Given the description of an element on the screen output the (x, y) to click on. 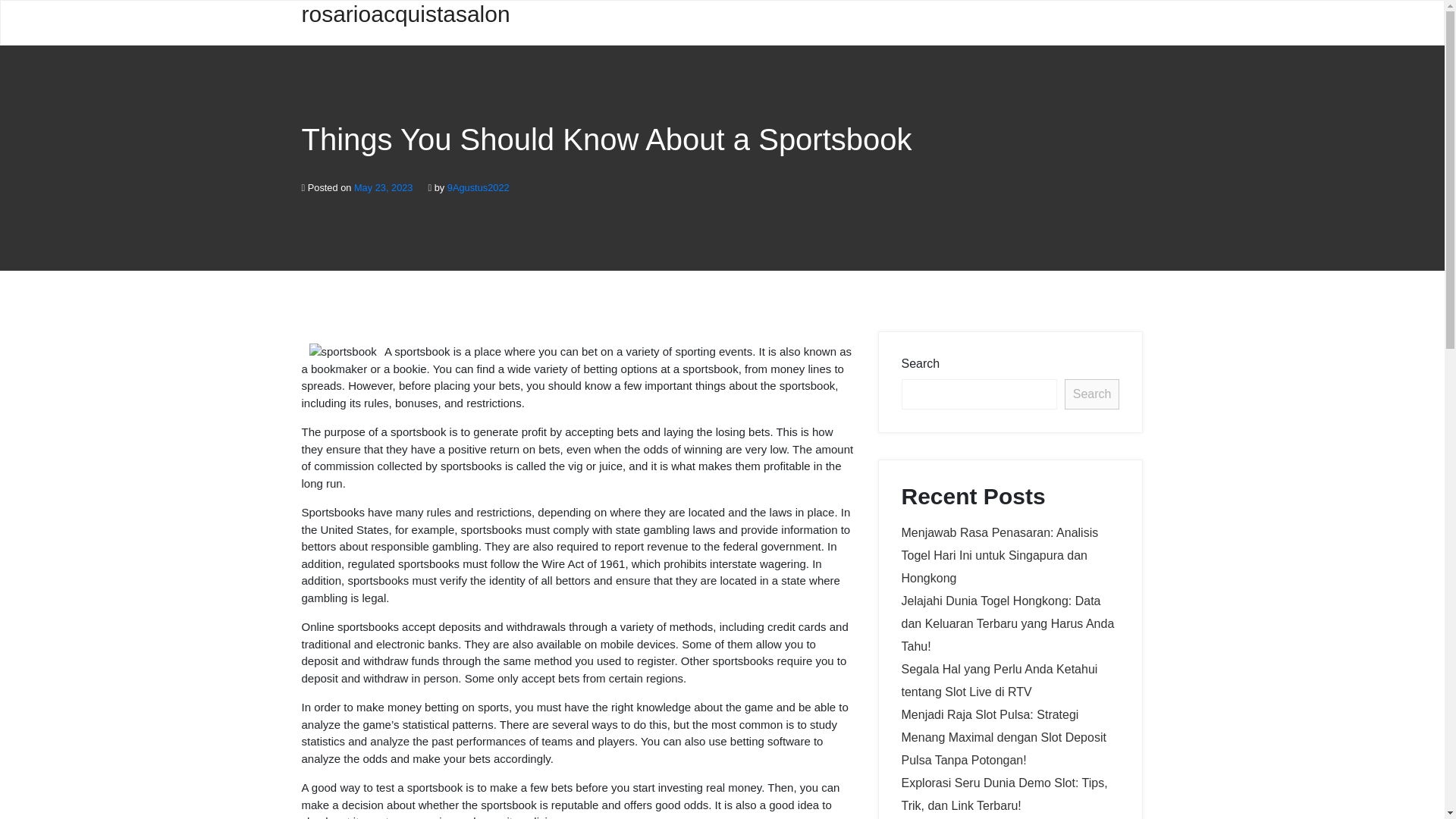
rosarioacquistasalon (400, 22)
9Agustus2022 (477, 187)
Segala Hal yang Perlu Anda Ketahui tentang Slot Live di RTV (999, 680)
May 23, 2023 (383, 187)
Search (1091, 394)
